Given the description of an element on the screen output the (x, y) to click on. 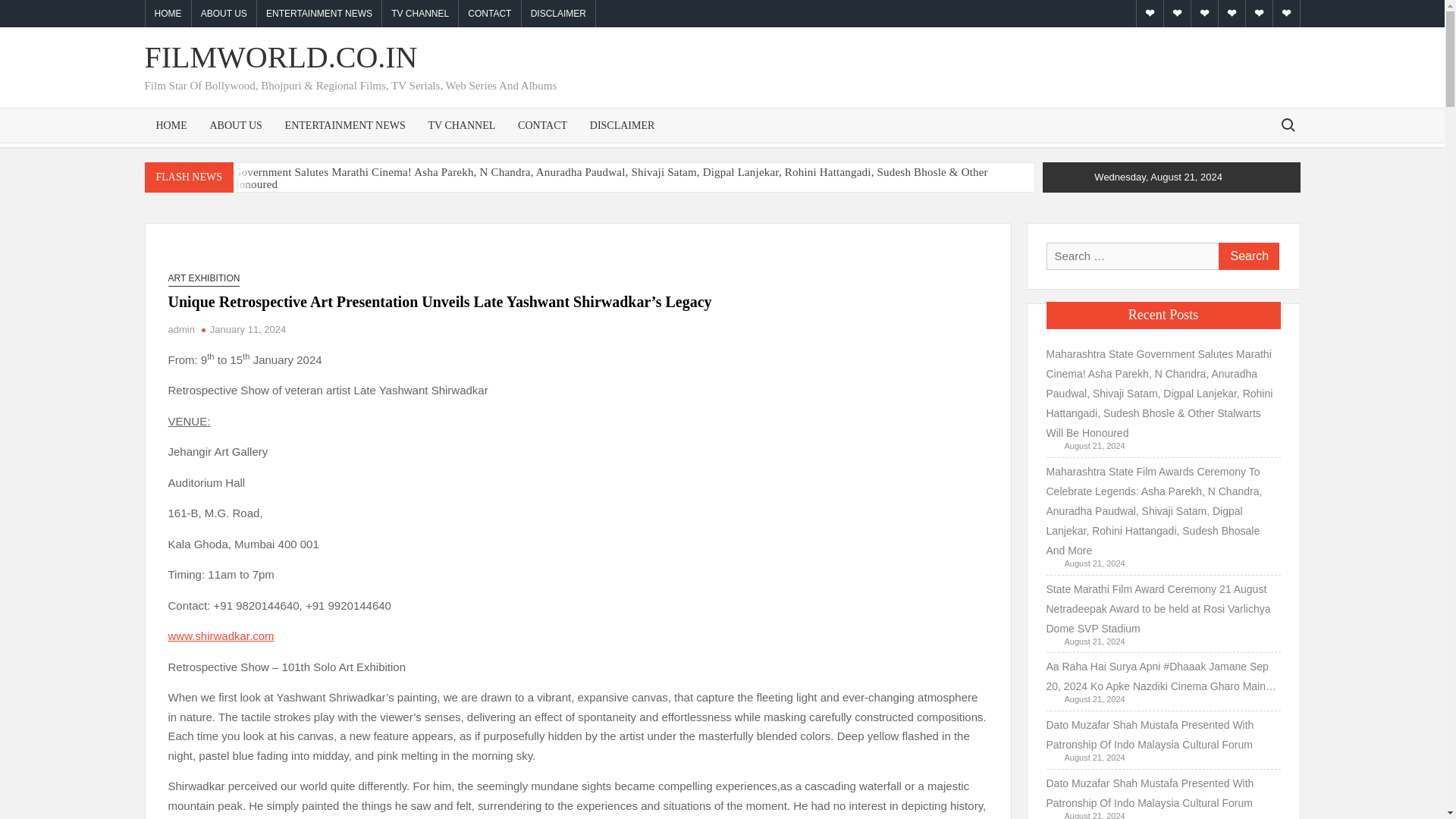
HOME (171, 124)
ABOUT US (224, 13)
CONTACT (542, 124)
TV CHANNEL (461, 124)
ABOUT US (235, 124)
Search (1247, 256)
DISCLAIMER (622, 124)
DISCLAIMER (558, 13)
CONTACT (488, 13)
HOME (167, 13)
